Given the description of an element on the screen output the (x, y) to click on. 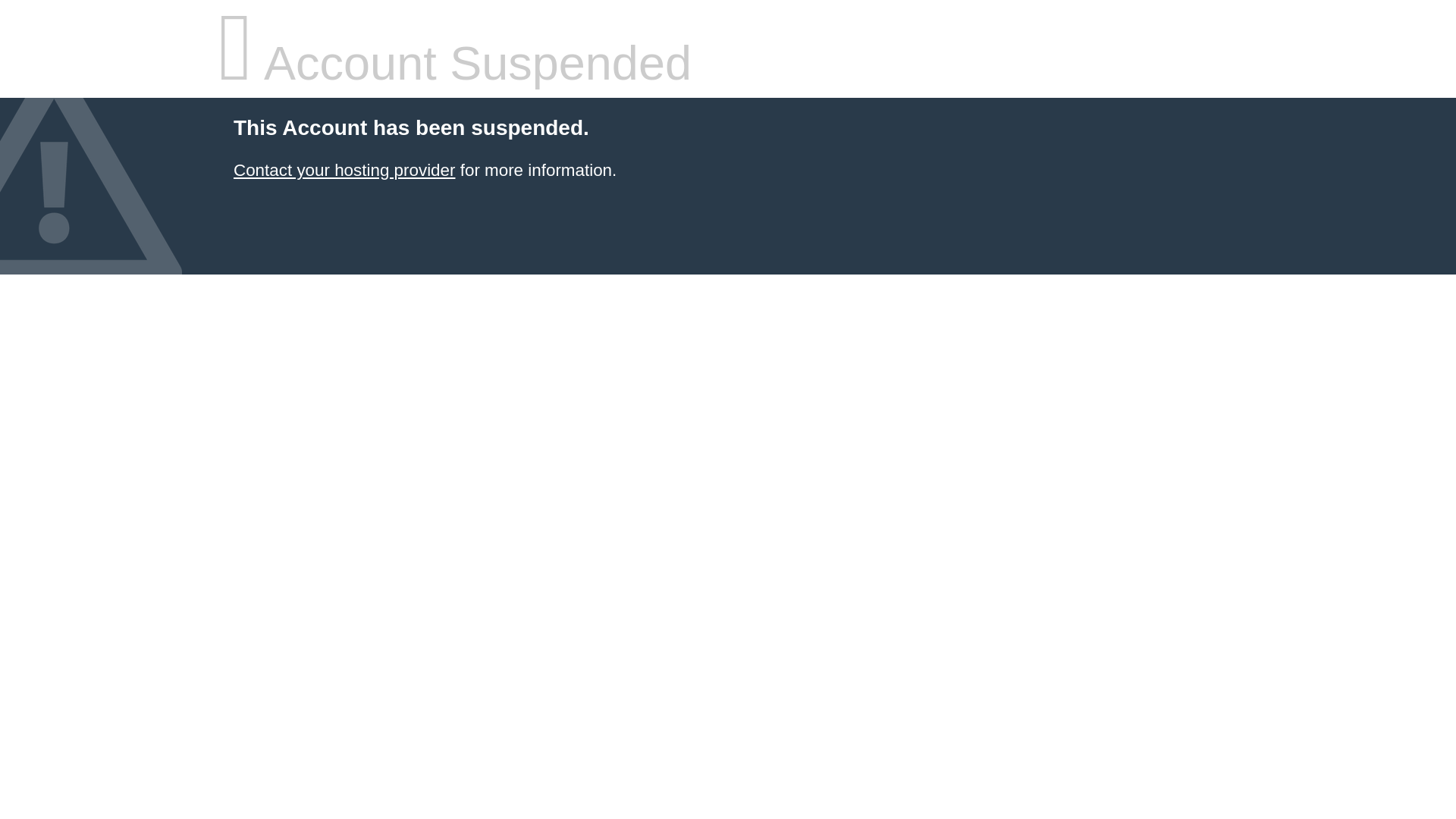
Contact your hosting provider (343, 169)
